Given the description of an element on the screen output the (x, y) to click on. 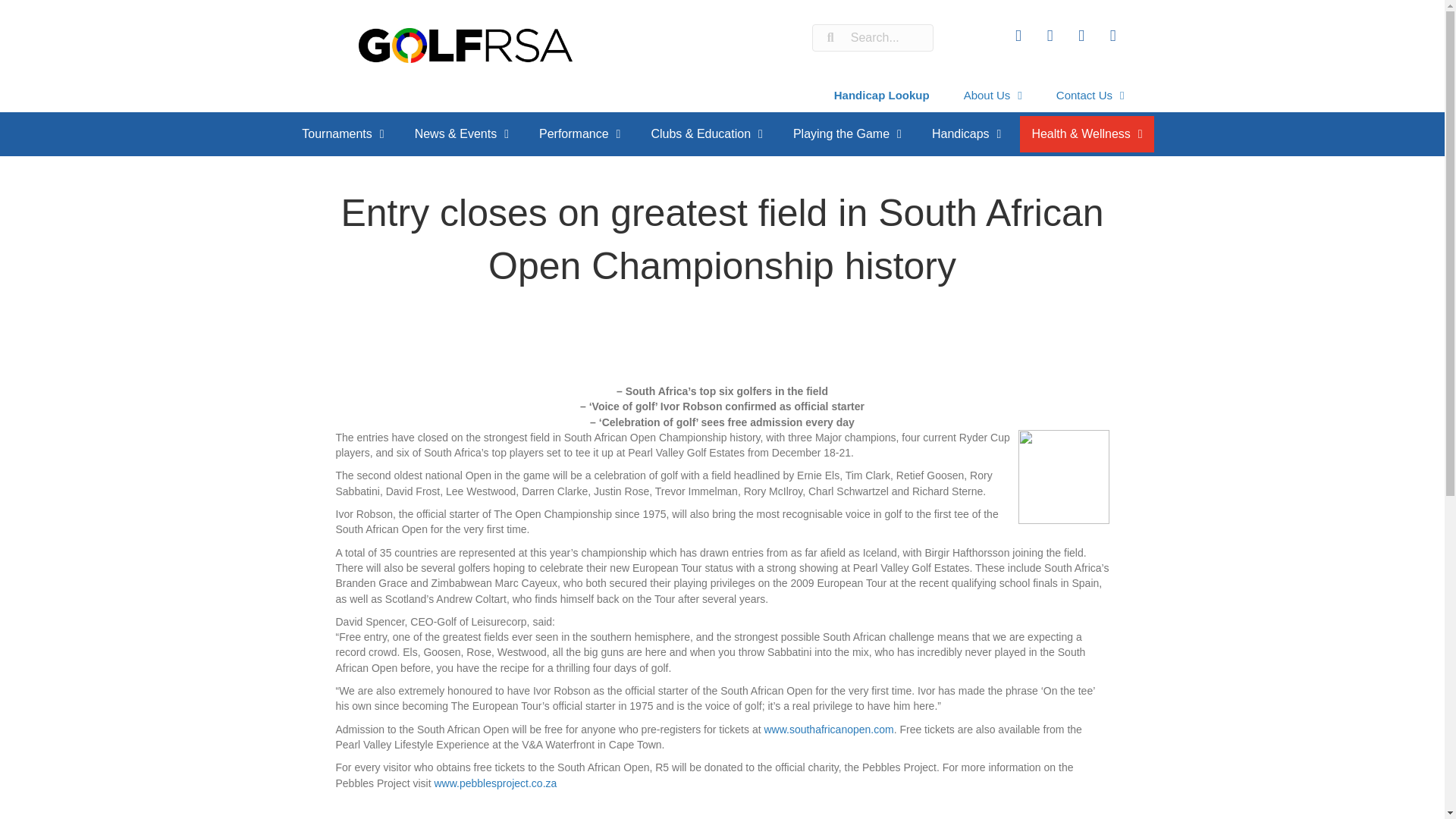
Handicap Lookup (882, 94)
About Us (992, 94)
1 GOLF RSA primary logo on white (465, 45)
Tournaments (341, 134)
Contact Us (1090, 94)
